Given the description of an element on the screen output the (x, y) to click on. 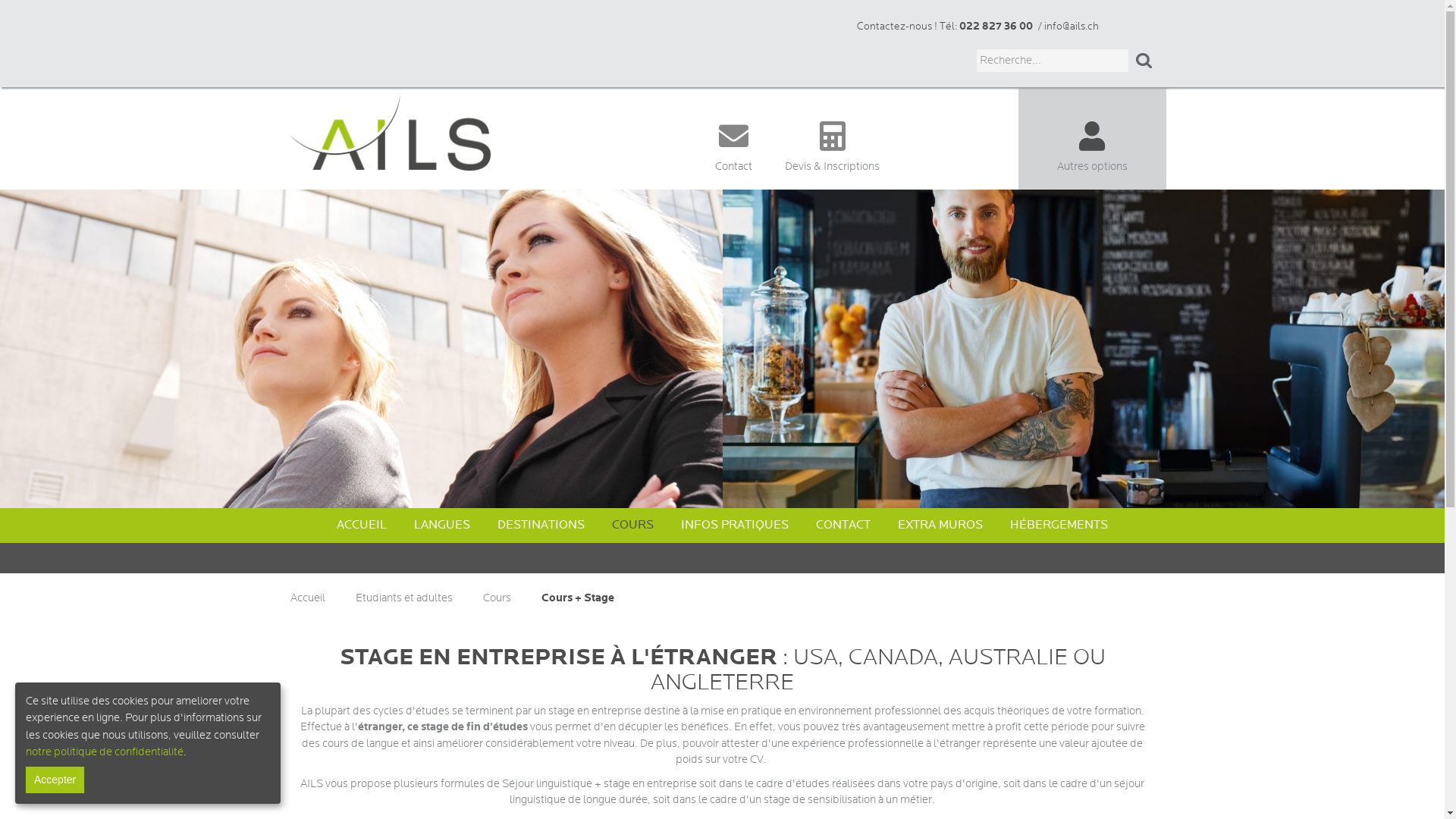
022 827 36 00 Element type: text (995, 25)
Accepter Element type: text (54, 779)
DESTINATIONS Element type: text (540, 524)
Etudiants et adultes Element type: text (412, 597)
LANGUES Element type: text (441, 524)
COURS Element type: text (632, 524)
Cours Element type: text (505, 597)
ACCUEIL Element type: text (361, 524)
CONTACT Element type: text (843, 524)
INFOS PRATIQUES Element type: text (734, 524)
OK Element type: text (1144, 60)
EXTRA MUROS Element type: text (940, 524)
info@ails.ch Element type: text (1071, 26)
Accueil Element type: text (316, 597)
